Given the description of an element on the screen output the (x, y) to click on. 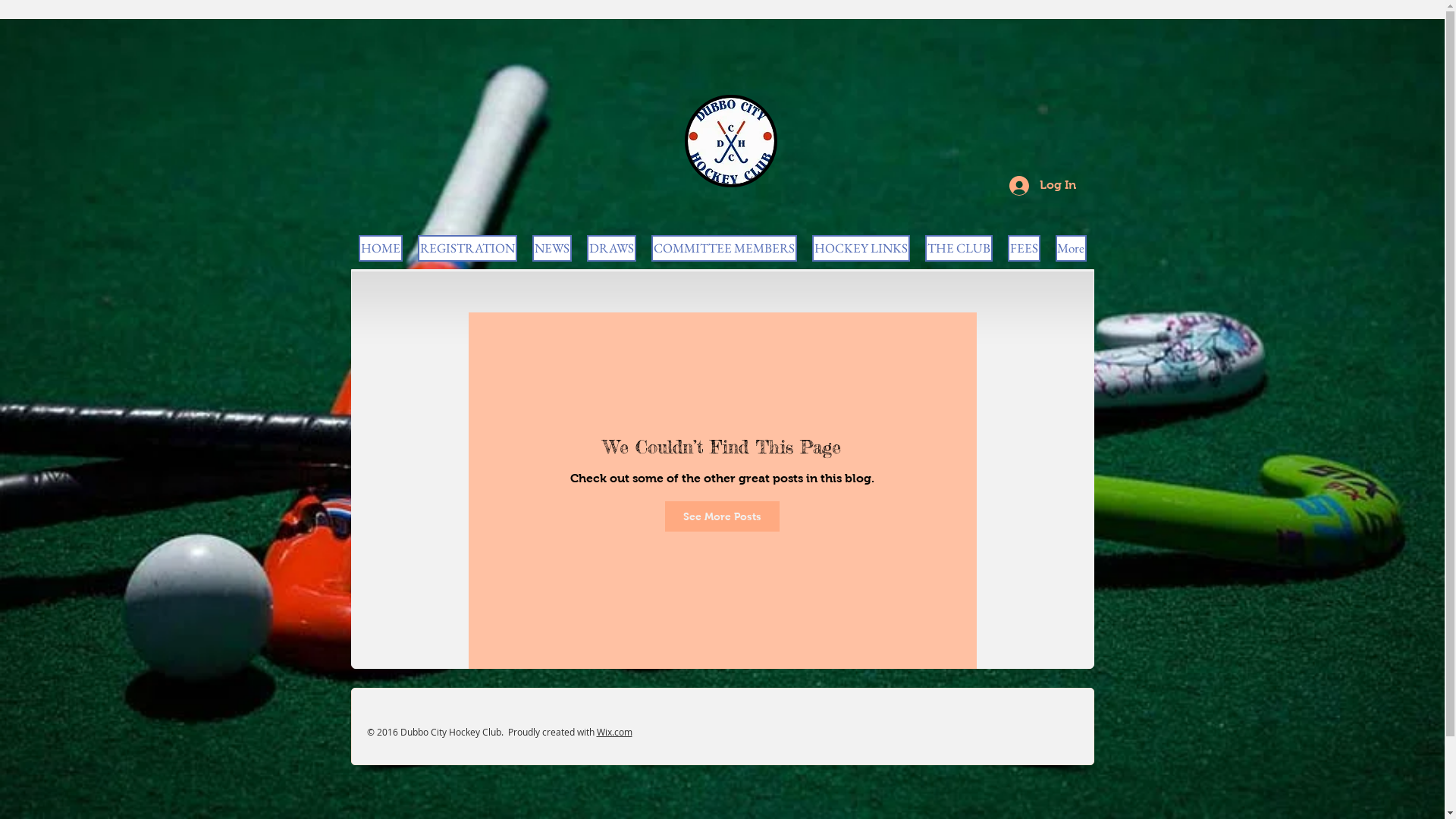
THE CLUB Element type: text (958, 248)
HOME Element type: text (379, 248)
FEES Element type: text (1023, 248)
COMMITTEE MEMBERS Element type: text (723, 248)
See More Posts Element type: text (722, 516)
DRAWS Element type: text (611, 248)
HOCKEY LINKS Element type: text (860, 248)
Wix.com Element type: text (613, 731)
NEWS Element type: text (551, 248)
REGISTRATION Element type: text (466, 248)
Log In Element type: text (1041, 185)
